Given the description of an element on the screen output the (x, y) to click on. 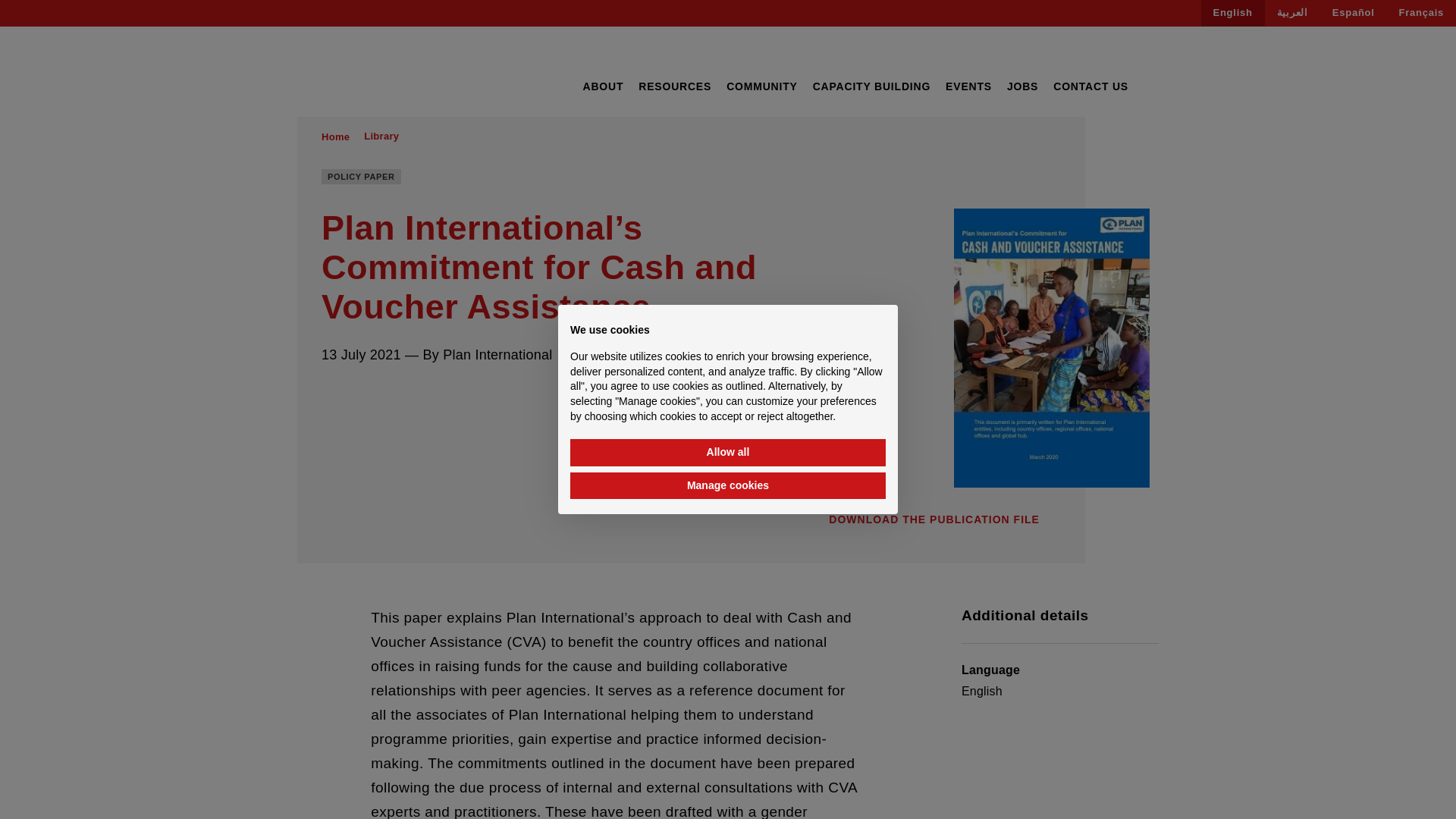
Go to Home (335, 136)
COMMUNITY (761, 86)
Share on Facebook (327, 395)
CAPACITY BUILDING (871, 86)
Share on email (414, 394)
ABOUT (602, 86)
EVENTS (967, 86)
Share on Twitter (356, 395)
JOBS (1022, 86)
